Given the description of an element on the screen output the (x, y) to click on. 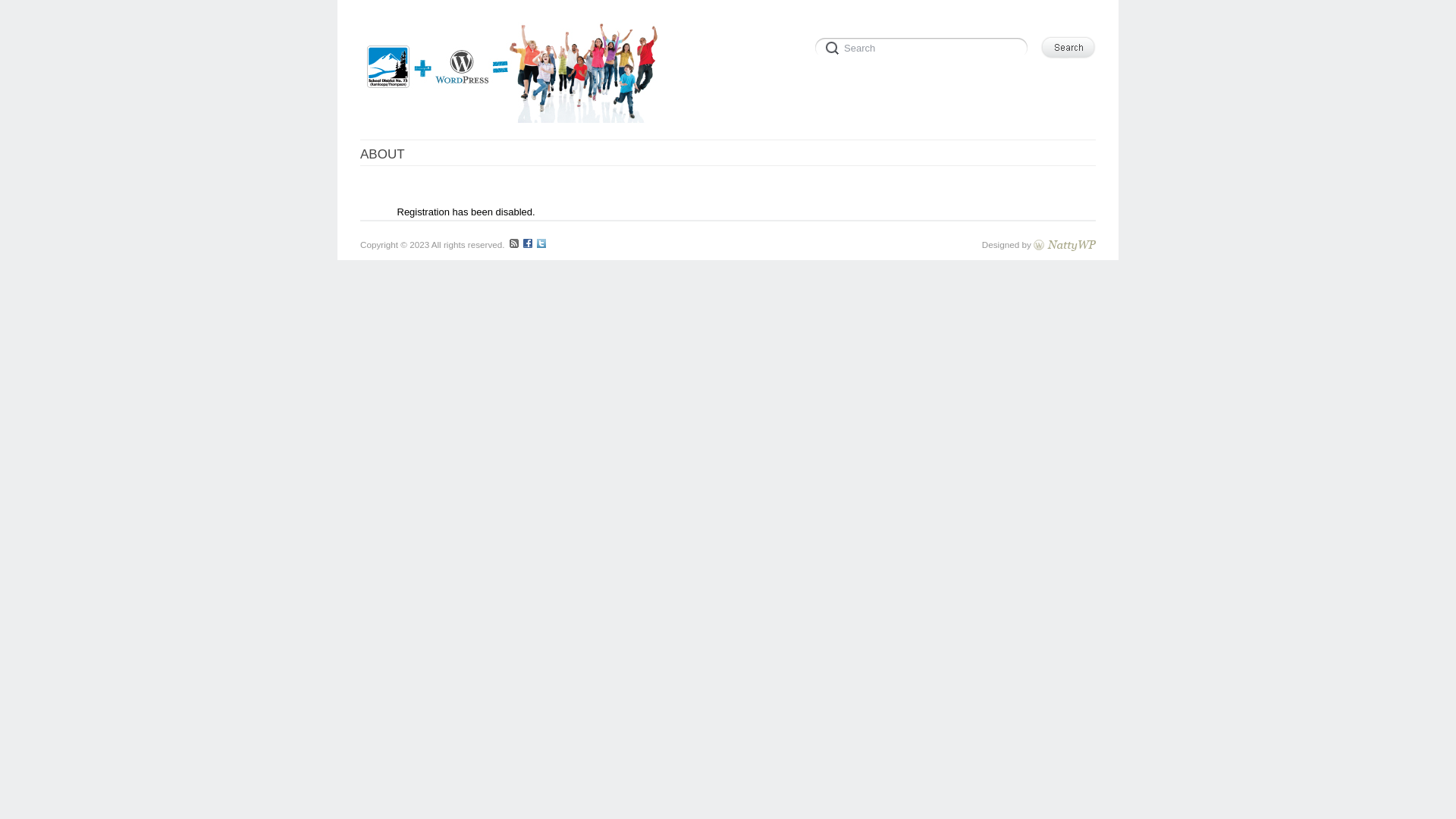
ABOUT Element type: text (382, 154)
Search Element type: text (924, 45)
search Element type: hover (924, 45)
NattyWP Element type: hover (1064, 244)
Search Element type: hover (1067, 47)
